Given the description of an element on the screen output the (x, y) to click on. 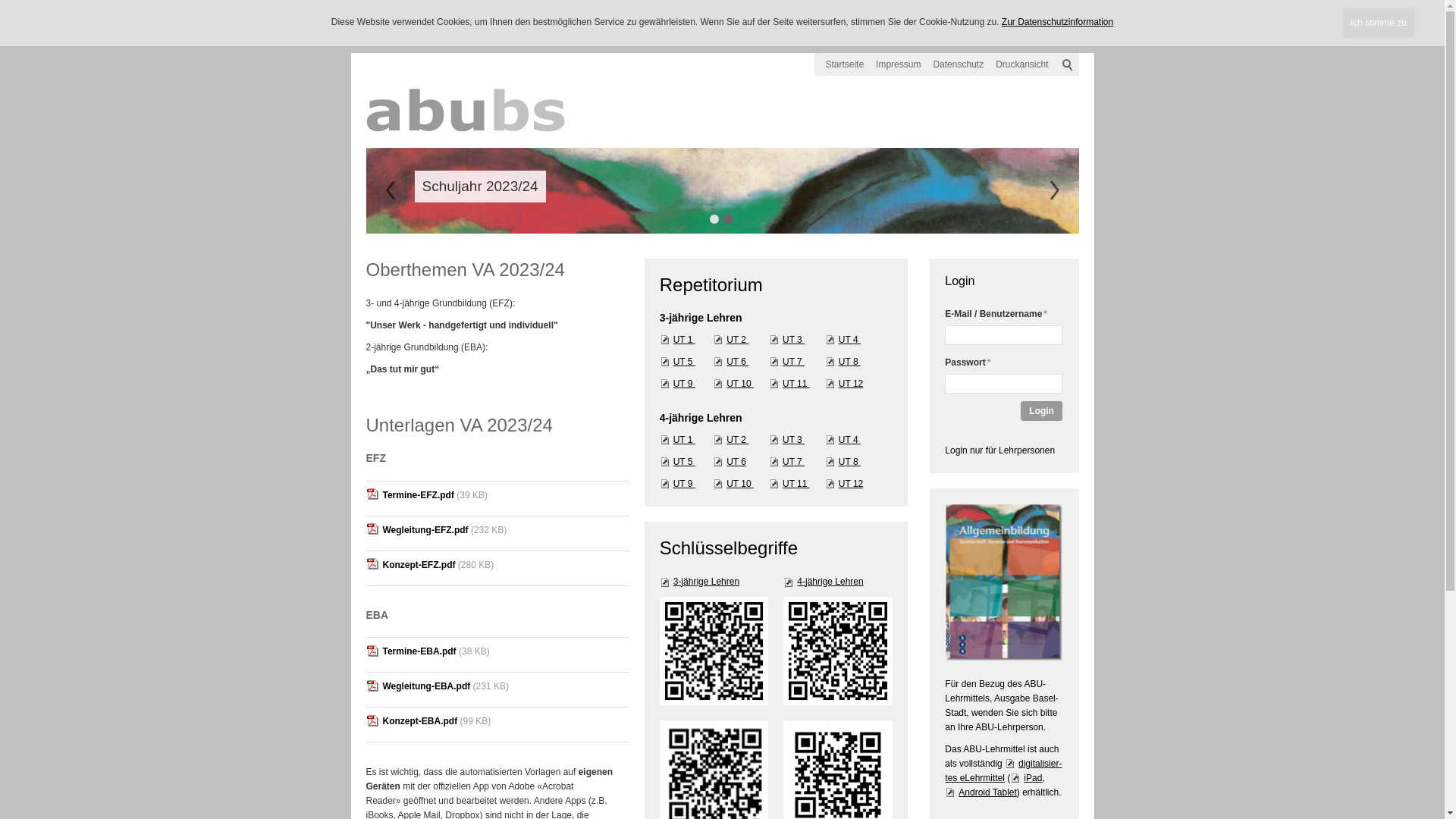
UT 8  Element type: text (842, 461)
UT 6  Element type: text (730, 361)
Wegleitung-EBA.pdf Element type: text (417, 685)
UT 10 Element type: text (732, 482)
Startseite Element type: text (844, 64)
UT 2  Element type: text (730, 338)
Termine-EBA.pdf Element type: text (410, 651)
Login Element type: text (1041, 410)
UT 12 Element type: text (843, 482)
UT 5  Element type: text (677, 461)
UT 6 Element type: text (729, 461)
UT 11 Element type: text (788, 482)
UT 10 Element type: text (732, 382)
Ich stimme zu Element type: text (1378, 22)
UT 3  Element type: text (786, 438)
Wegleitung-EFZ.pdf Element type: text (416, 529)
Druckansicht Element type: text (1021, 64)
Termine-EFZ.pdf Element type: text (409, 494)
Wegleitung-EFZ.pdf (232 KB) Element type: text (496, 532)
UT 5 Element type: text (677, 361)
Termine-EFZ.pdf (39 KB) Element type: text (496, 497)
  Element type: text (389, 189)
UT 3  Element type: text (786, 338)
UT 12 Element type: text (843, 382)
UT 8  Element type: text (842, 361)
UT 1 Element type: text (677, 438)
Konzept-EBA.pdf Element type: text (411, 720)
Zur Datenschutzinformation Element type: text (1057, 21)
UT 9 Element type: text (677, 482)
UT 4  Element type: text (842, 338)
Konzept-EFZ.pdf (280 KB) Element type: text (496, 567)
Konzept-EFZ.pdf Element type: text (410, 564)
digitalisier-tes eLehrmittel Element type: text (1002, 770)
UT 7 Element type: text (786, 361)
UT 2 Element type: text (730, 438)
ABU-Lehrmittel Element type: hover (1003, 582)
Termine-EBA.pdf (38 KB) Element type: text (496, 654)
UT 7 Element type: text (786, 461)
Datenschutz Element type: text (958, 64)
iPad Element type: text (1025, 777)
UT 9 Element type: text (677, 382)
Wegleitung-EBA.pdf (231 KB) Element type: text (496, 689)
Android Tablet Element type: text (980, 792)
UT 1  Element type: text (677, 338)
Impressum Element type: text (898, 64)
  Element type: text (1053, 189)
UT 4  Element type: text (842, 438)
Zur Startseite Element type: hover (479, 107)
UT 11 Element type: text (788, 382)
Konzept-EBA.pdf (99 KB) Element type: text (496, 724)
